Given the description of an element on the screen output the (x, y) to click on. 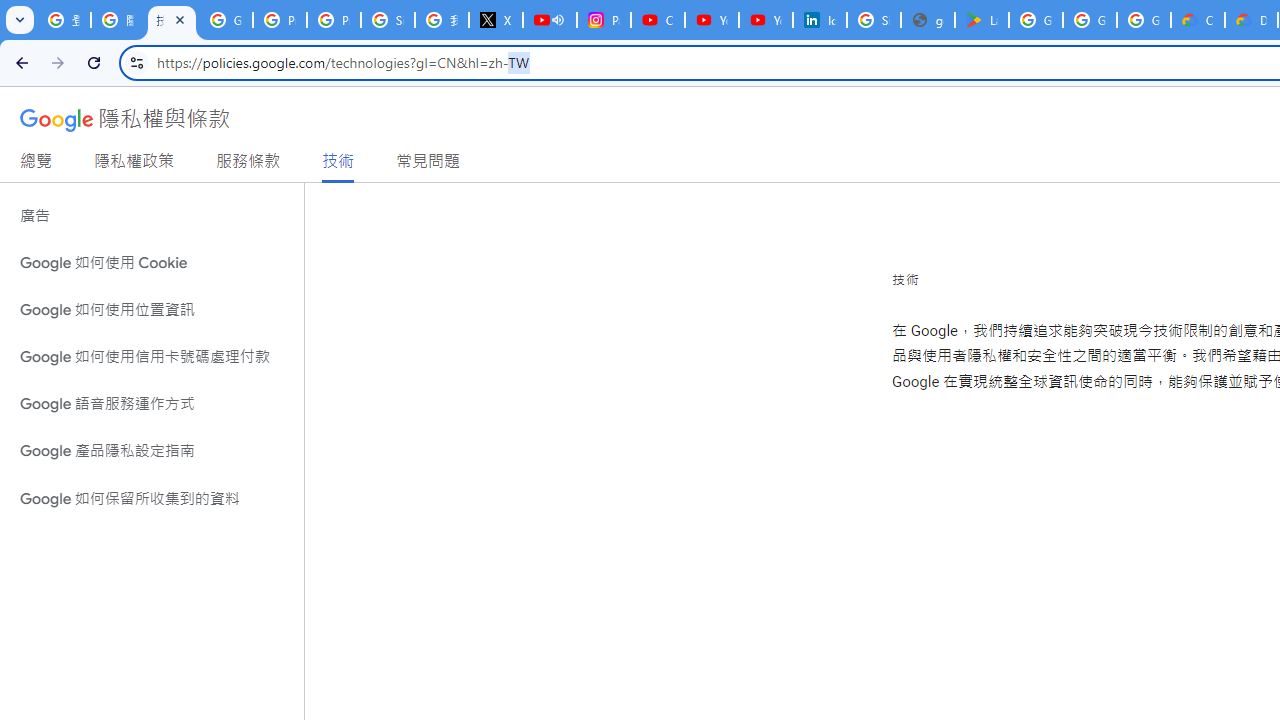
Privacy Help Center - Policies Help (280, 20)
Google Workspace - Specific Terms (1089, 20)
Google Workspace - Specific Terms (1144, 20)
YouTube Culture & Trends - YouTube Top 10, 2021 (765, 20)
google_privacy_policy_en.pdf (927, 20)
Privacy Help Center - Policies Help (333, 20)
